Given the description of an element on the screen output the (x, y) to click on. 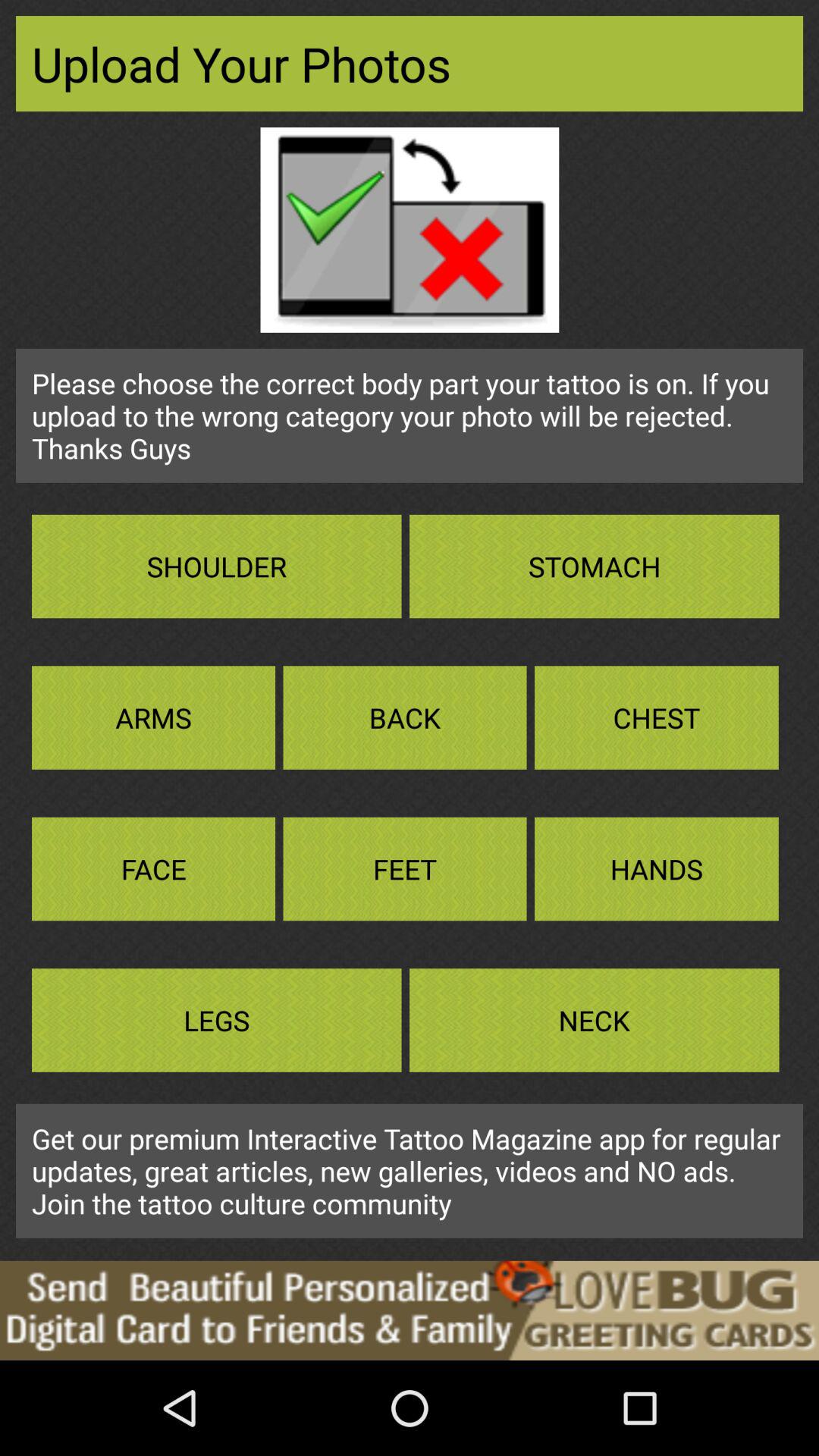
visit advertisement site (409, 1310)
